Given the description of an element on the screen output the (x, y) to click on. 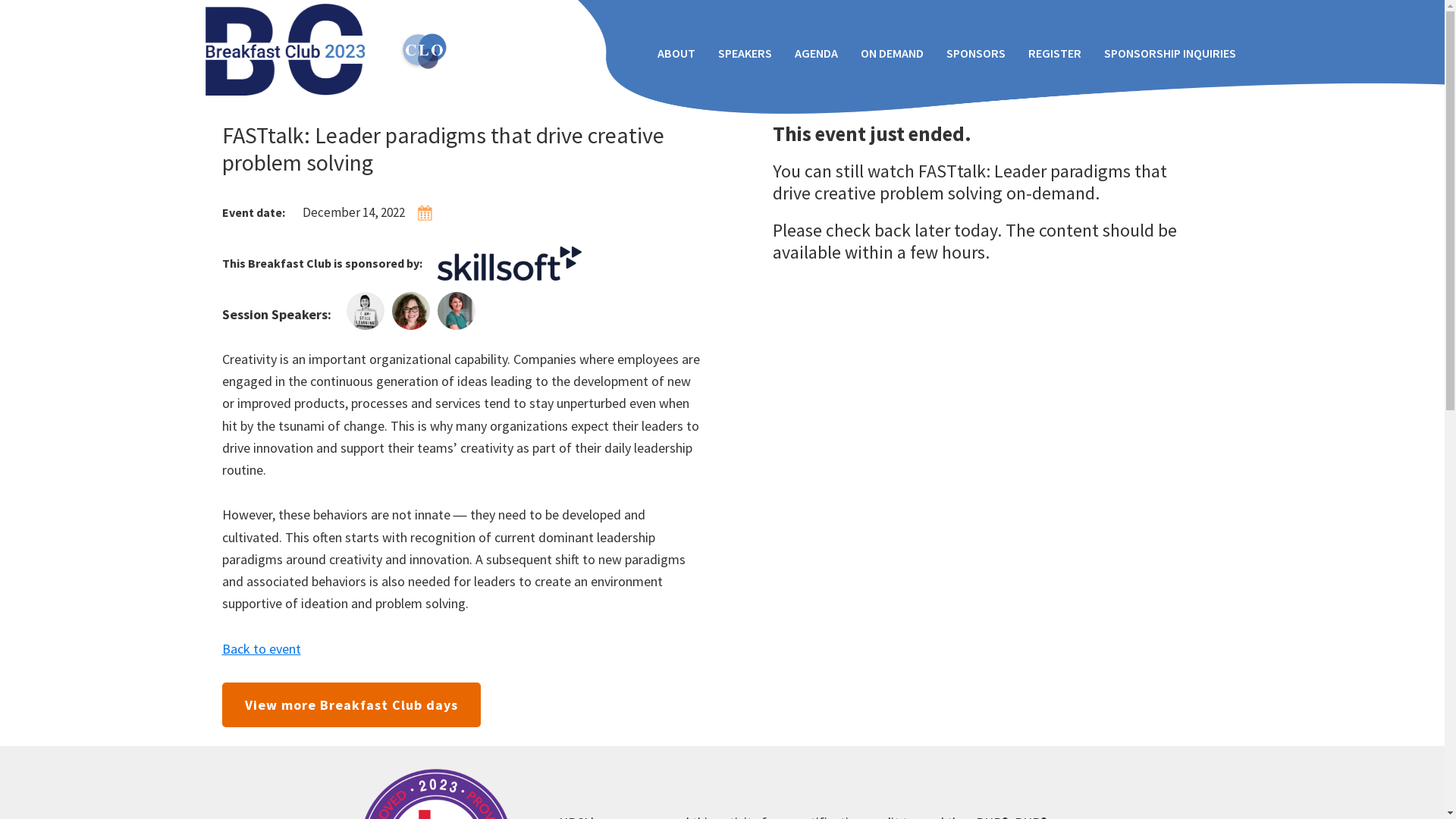
Skip to primary navigation Element type: text (0, 0)
Back to event Element type: text (260, 648)
ABOUT Element type: text (676, 52)
SPEAKERS Element type: text (744, 52)
AGENDA Element type: text (815, 52)
View more Breakfast Club days Element type: text (350, 704)
ON DEMAND Element type: text (892, 52)
SPONSORS Element type: text (975, 52)
SPONSORSHIP INQUIRIES Element type: text (1169, 52)
REGISTER Element type: text (1054, 52)
